Given the description of an element on the screen output the (x, y) to click on. 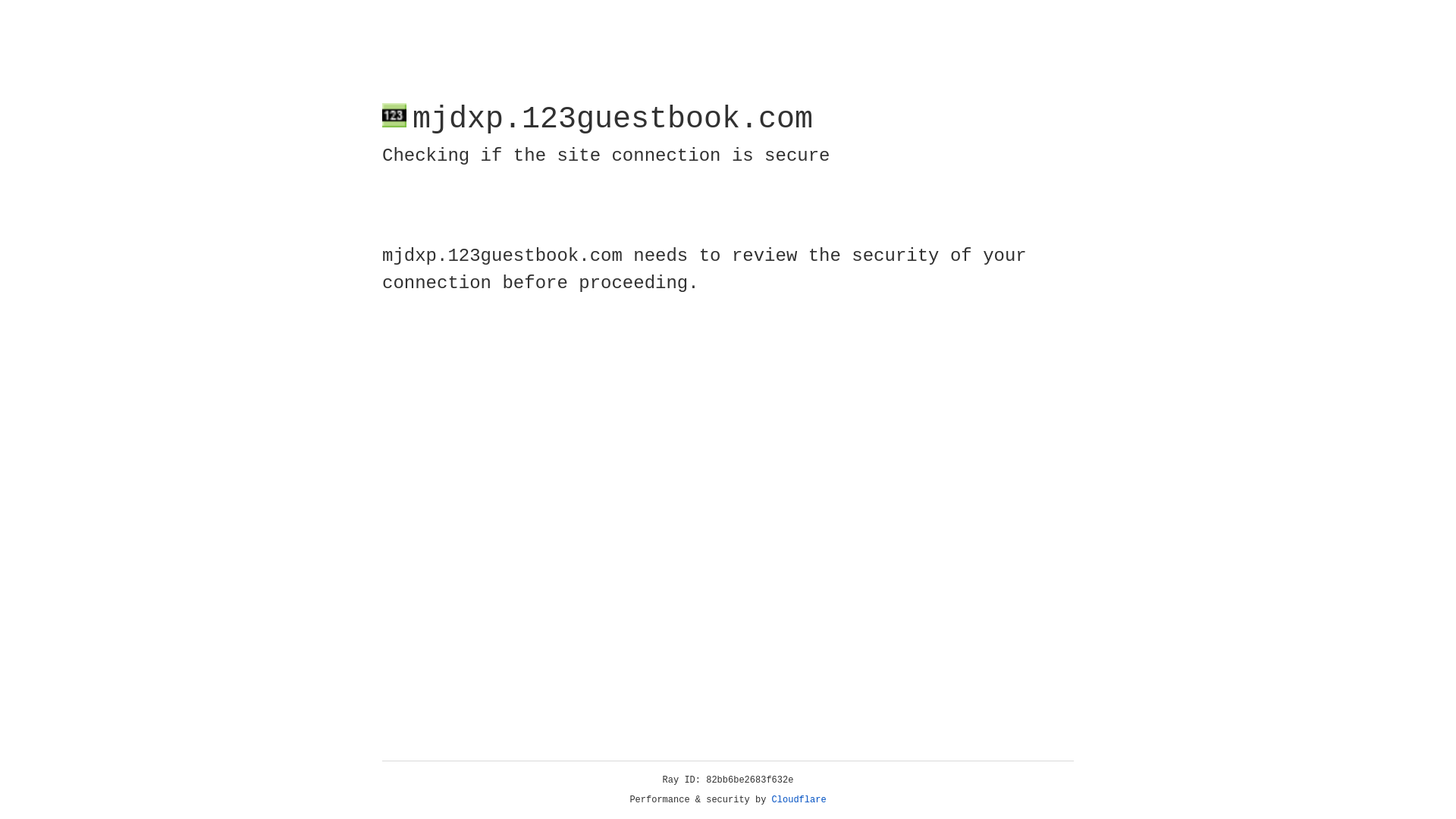
Cloudflare Element type: text (798, 799)
